Given the description of an element on the screen output the (x, y) to click on. 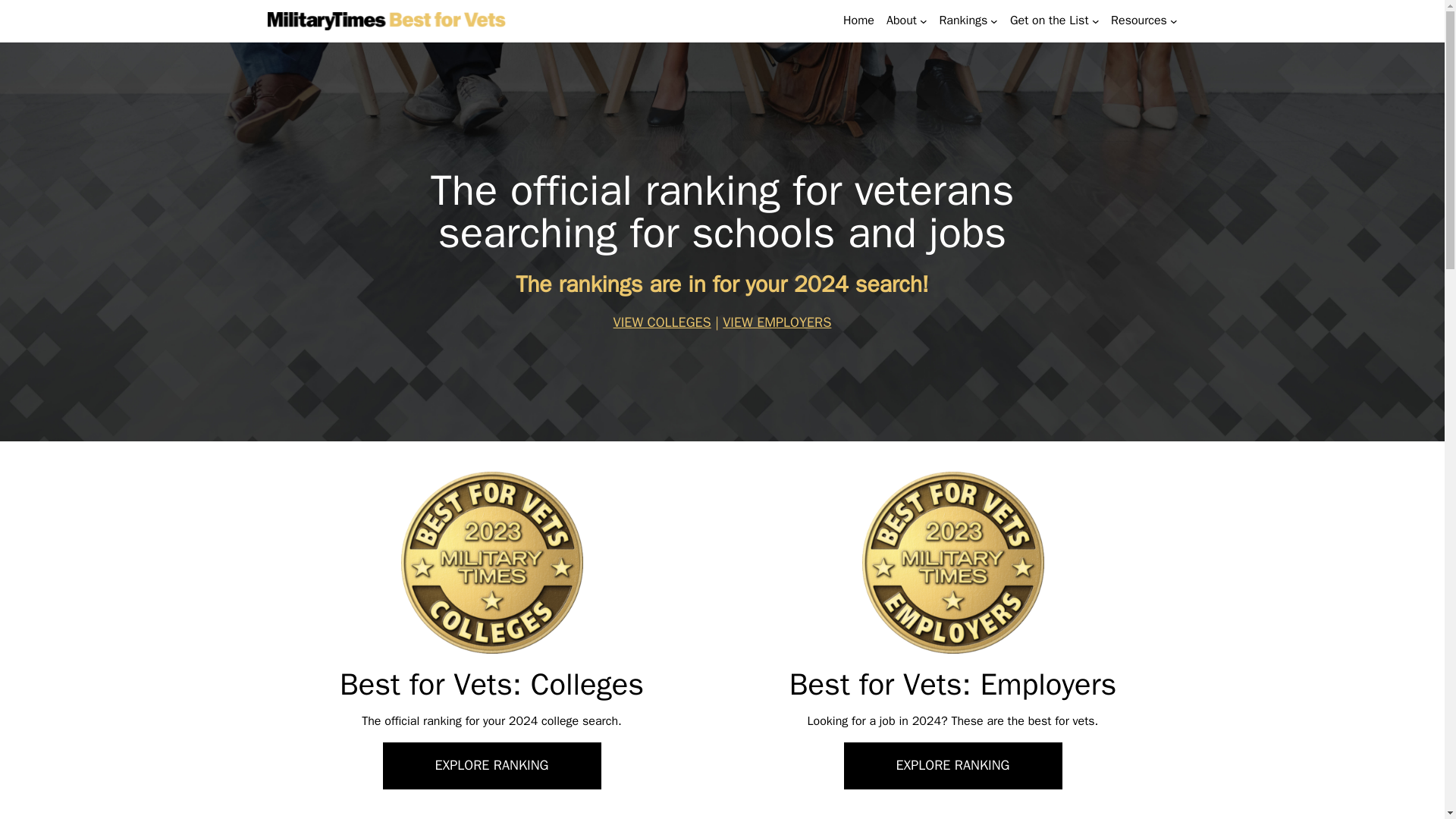
Home (859, 20)
VIEW EMPLOYERS (776, 321)
VIEW COLLEGES (661, 321)
EXPLORE RANKING (490, 765)
EXPLORE RANKING (952, 765)
Resources (1138, 20)
Get on the List (1049, 20)
About (901, 20)
Rankings (963, 20)
